Given the description of an element on the screen output the (x, y) to click on. 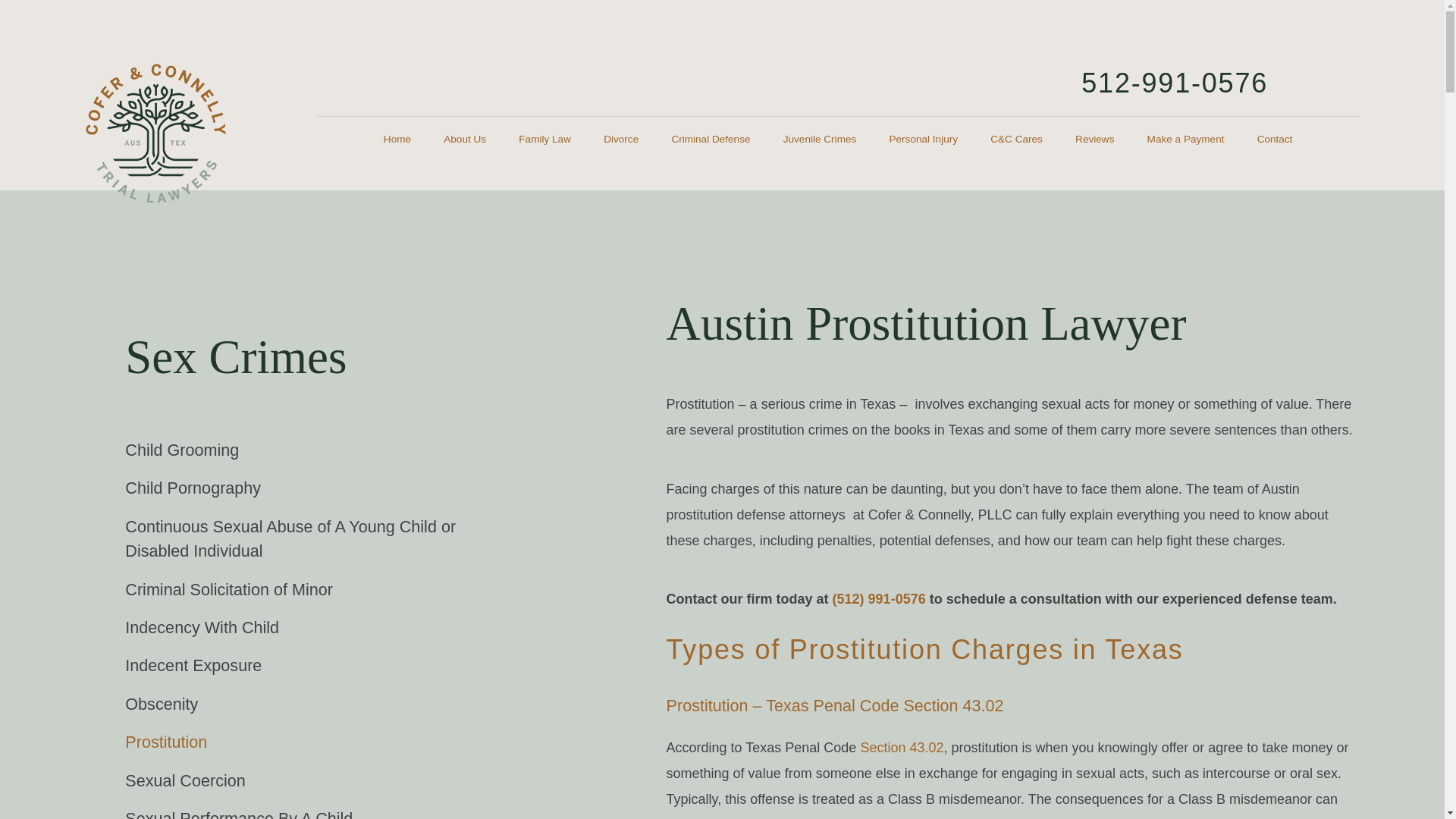
About Us (465, 139)
Open the accessibility options menu (1412, 786)
Family Law (544, 139)
512-991-0576 (1174, 82)
